Given the description of an element on the screen output the (x, y) to click on. 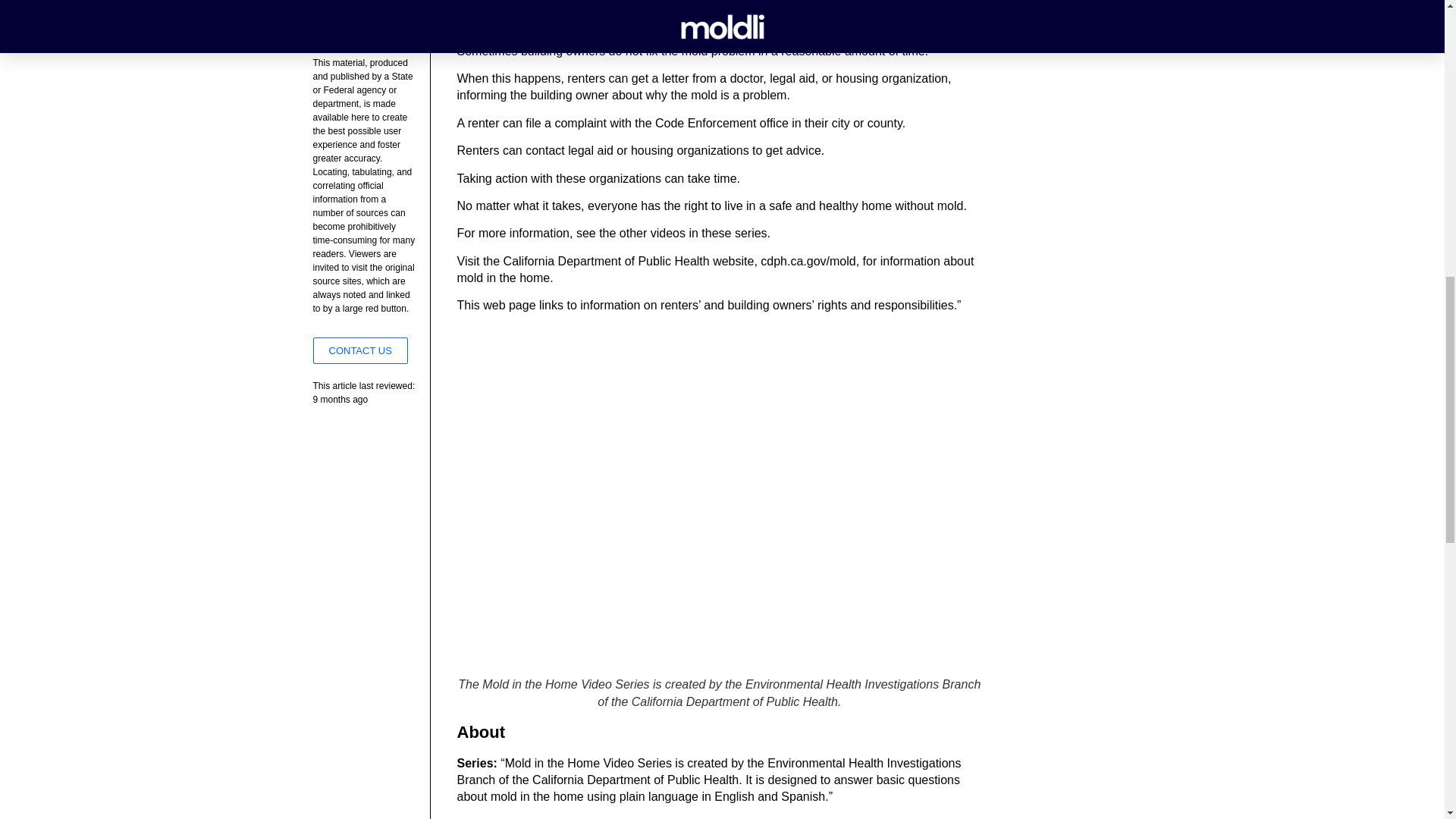
U.S. State or Federal Agencies (365, 39)
Advertisement (365, 6)
CONTACT US (360, 350)
